Given the description of an element on the screen output the (x, y) to click on. 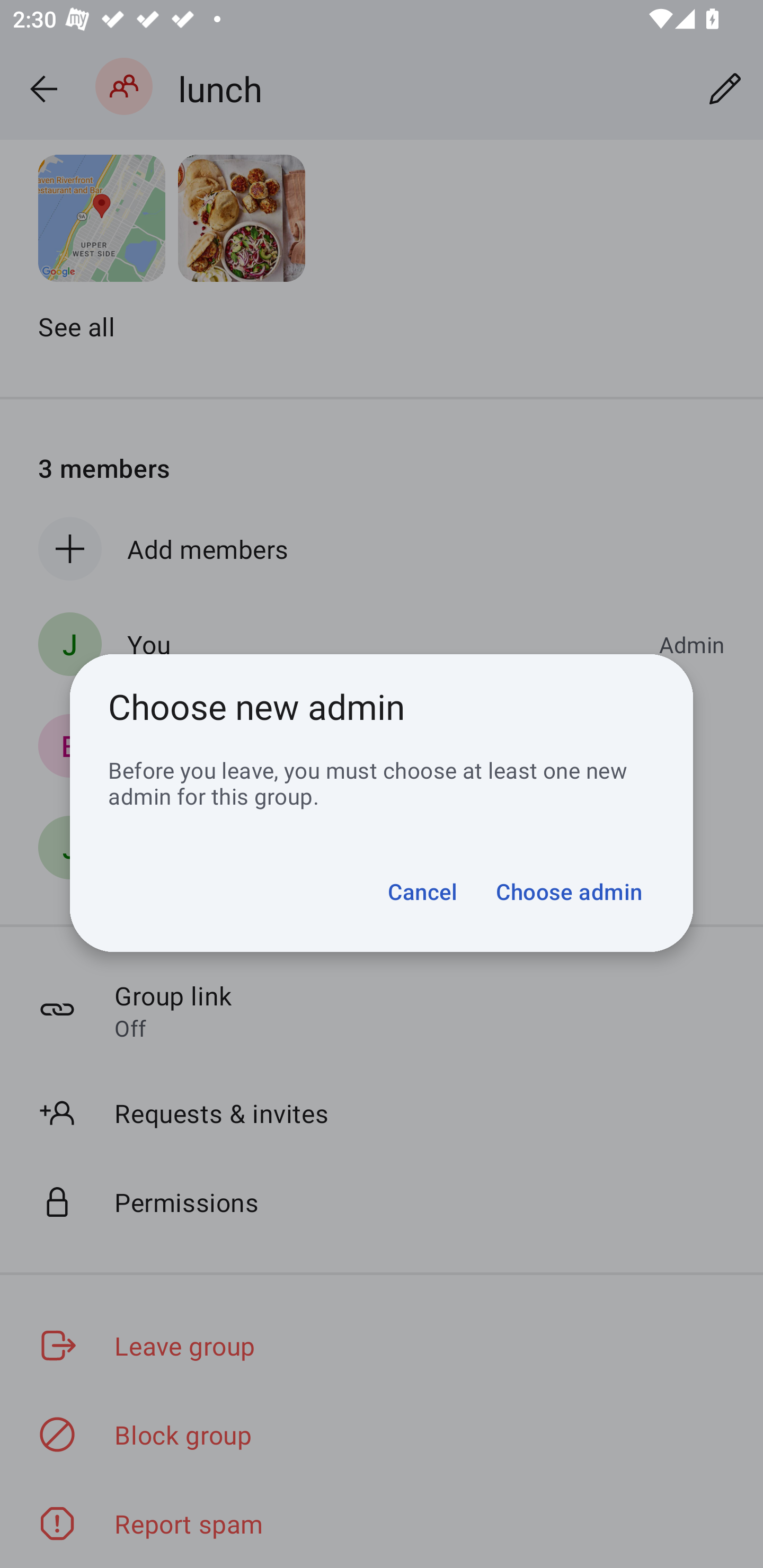
Choose admin (568, 890)
